Given the description of an element on the screen output the (x, y) to click on. 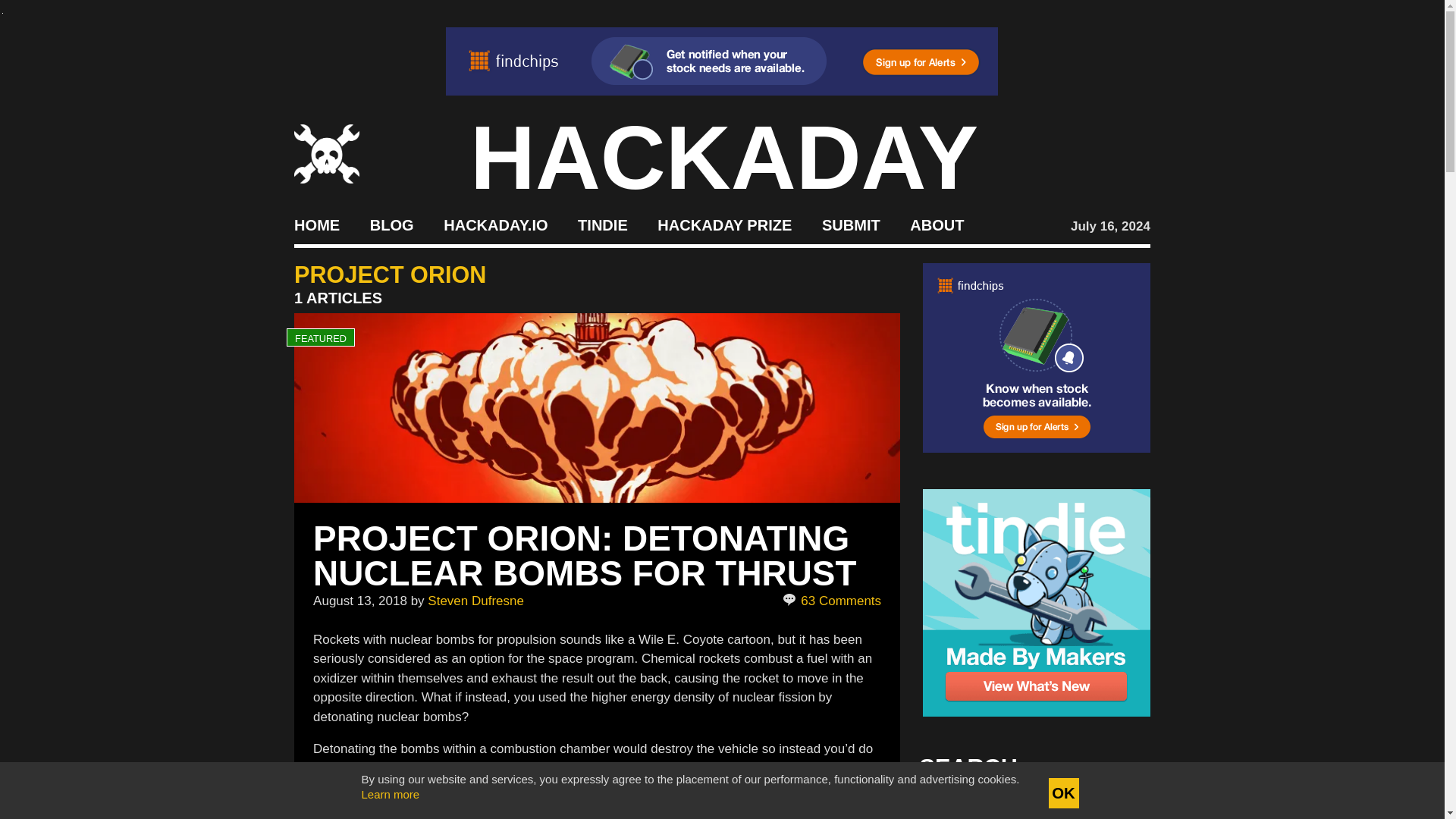
ABOUT (936, 224)
HACKADAY (724, 157)
63 Comments (832, 600)
August 13, 2018 (360, 599)
HACKADAY PRIZE (725, 224)
Steven Dufresne (476, 599)
SUBMIT (851, 224)
Search (1115, 808)
HACKADAY.IO (495, 224)
PROJECT ORION: DETONATING NUCLEAR BOMBS FOR THRUST (584, 555)
August 13, 2018 - 7:01 am (360, 599)
Build Something that Matters (725, 224)
BLOG (391, 224)
Posts by Steven Dufresne (476, 599)
HOME (316, 224)
